Given the description of an element on the screen output the (x, y) to click on. 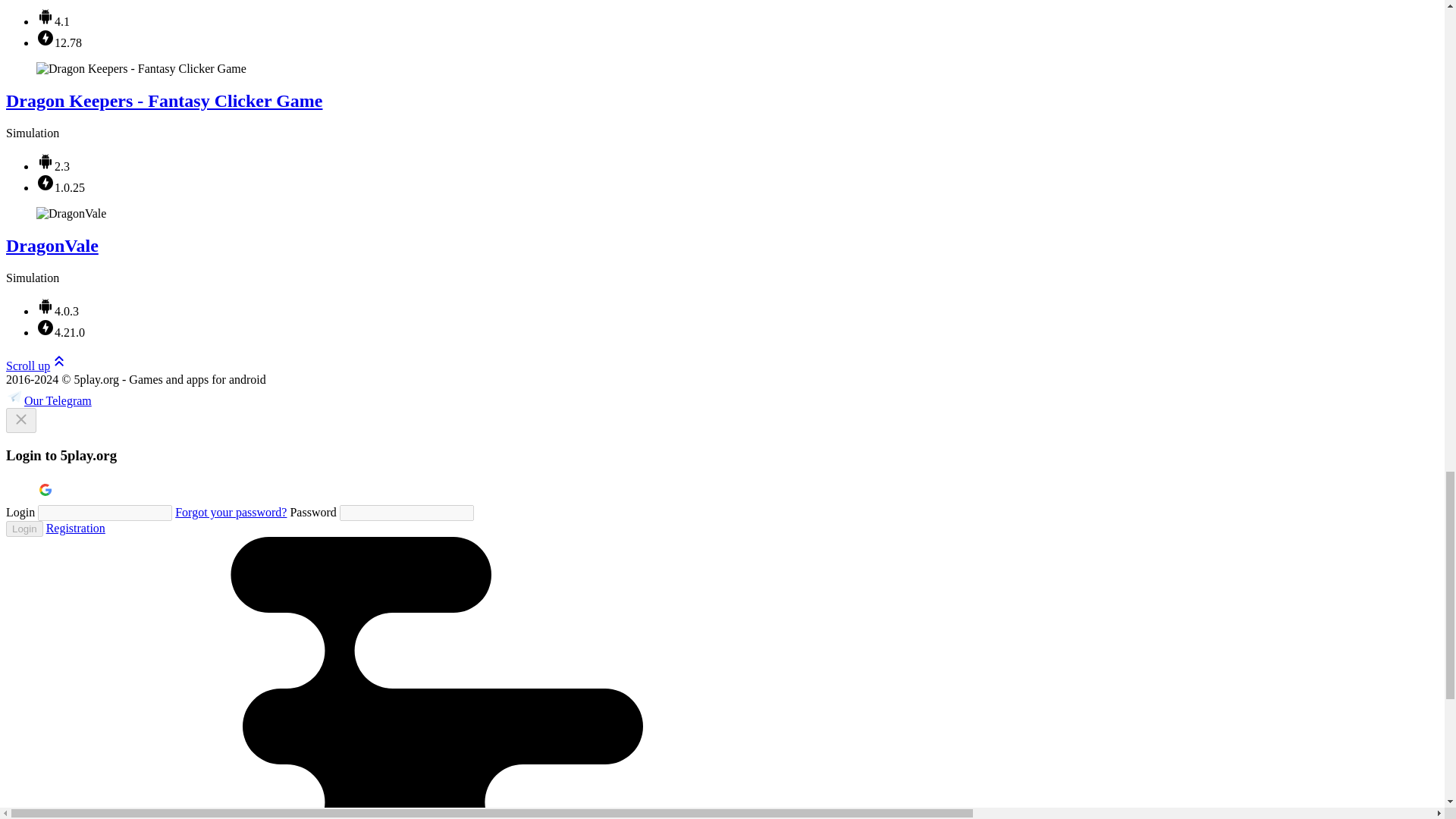
Scroll up (36, 365)
